Given the description of an element on the screen output the (x, y) to click on. 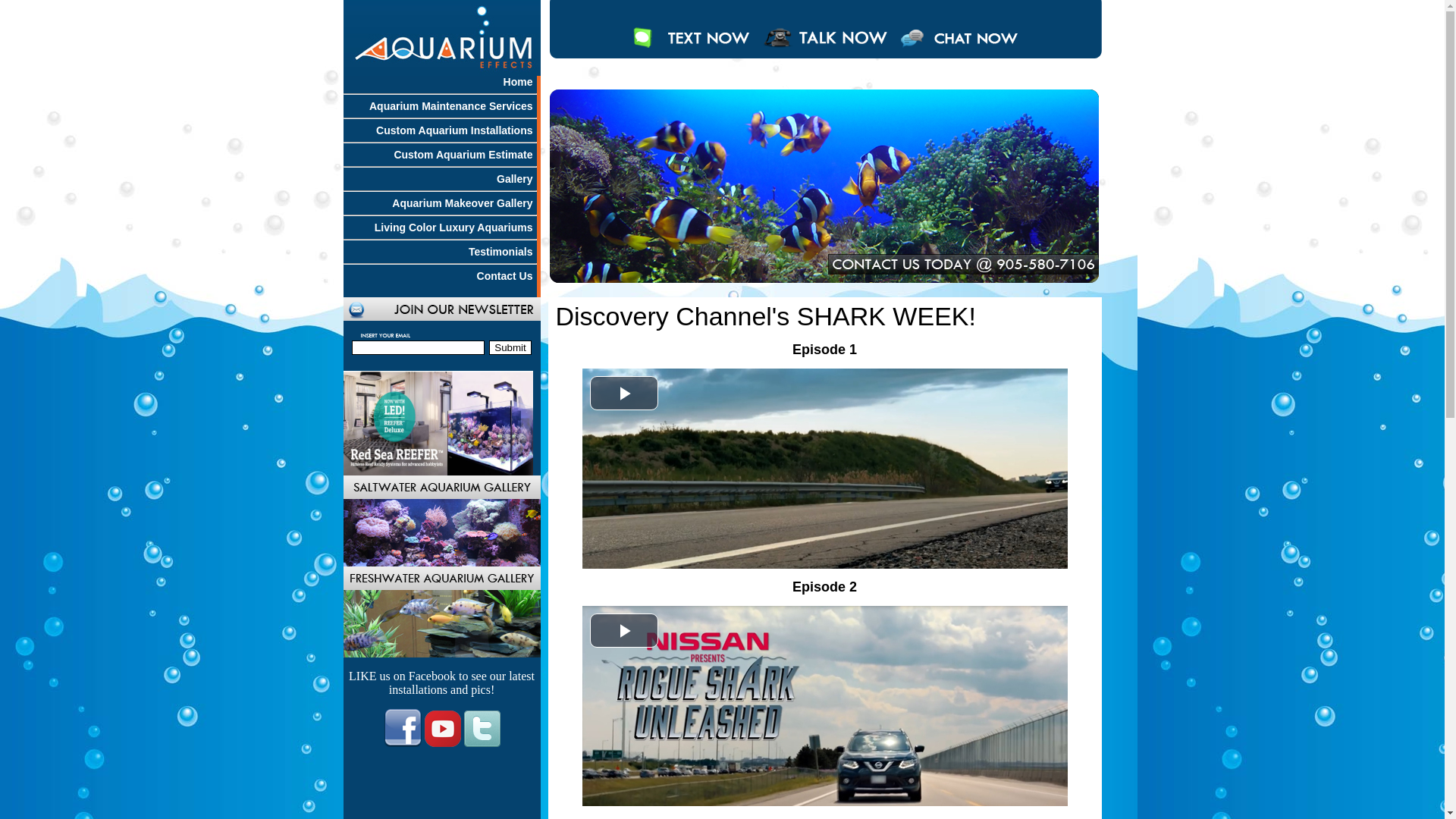
Play Video Element type: text (623, 630)
Testimonials Element type: text (502, 251)
Submit Element type: text (509, 347)
Gallery Element type: text (516, 178)
Aquarium Makeover Gallery Element type: text (464, 203)
TEXT NOW Element type: hover (690, 50)
Contact Us Element type: text (506, 275)
Aquarium Maintenance Services Element type: text (452, 106)
Play Video Element type: text (623, 393)
Home Element type: text (519, 81)
Custom Aquarium Estimate Element type: text (464, 154)
Living Color Luxury Aquariums Element type: text (455, 227)
Custom Aquarium Installations Element type: text (456, 130)
